Given the description of an element on the screen output the (x, y) to click on. 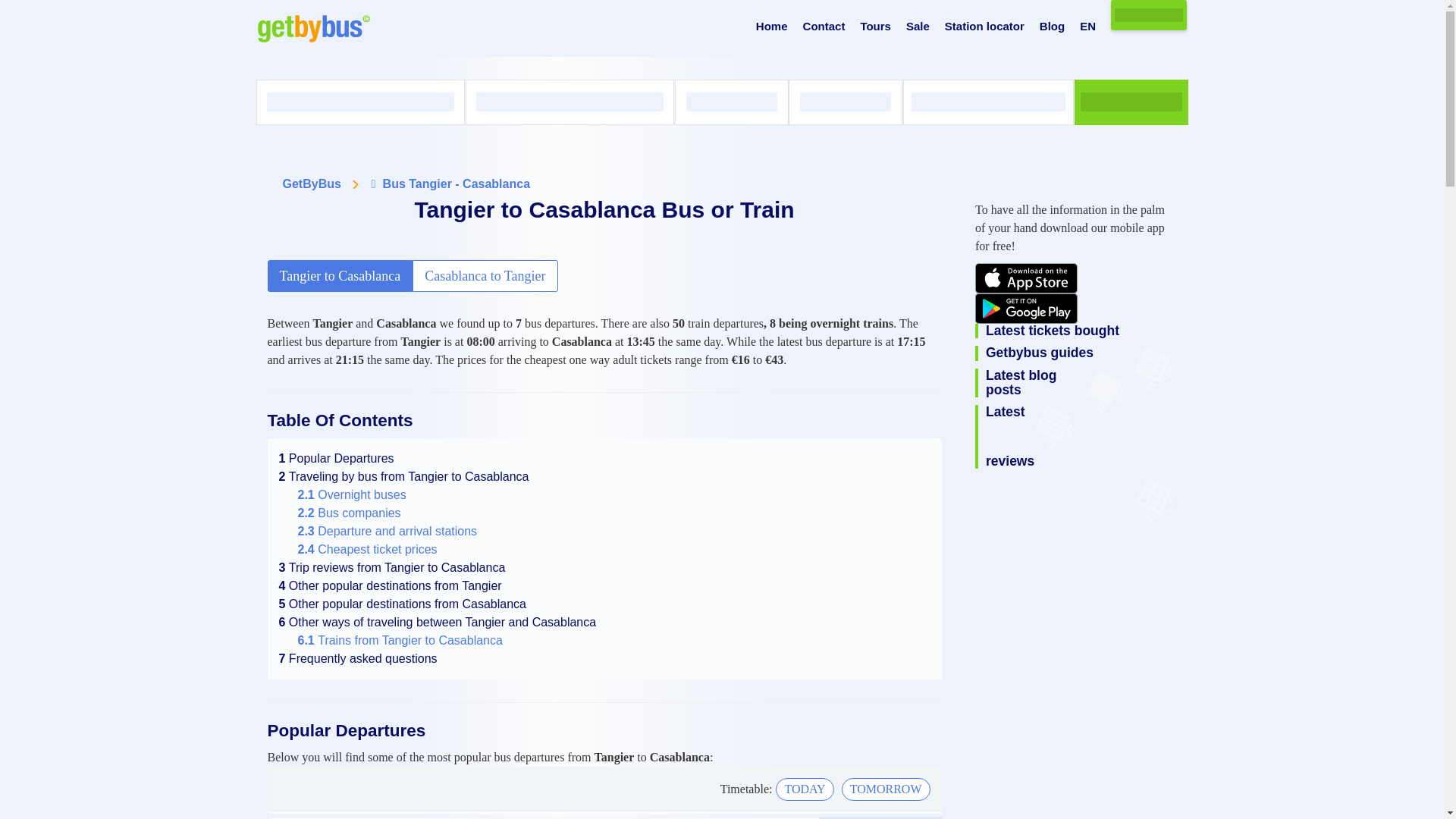
Other popular destinations from Tangier (390, 585)
Trains from Tangier to Casablanca (399, 640)
TODAY (804, 789)
Departure and arrival stations (387, 530)
Casablanca to Tangier (484, 275)
GetByBus (311, 183)
Bus companies (348, 512)
Station locator (984, 26)
Other ways of traveling between Tangier and Casablanca (437, 621)
 GetByBus (311, 183)
